Given the description of an element on the screen output the (x, y) to click on. 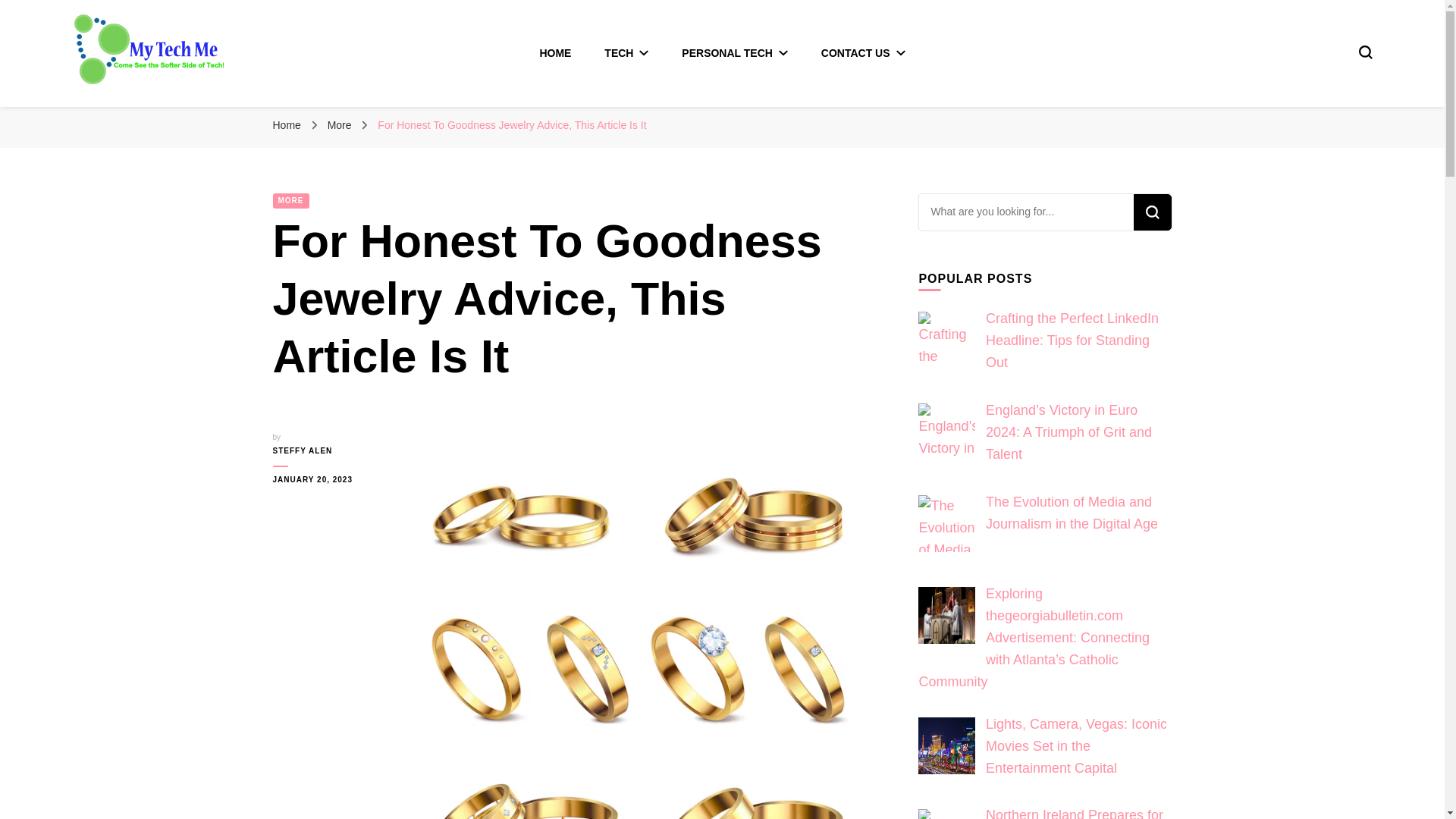
My Tech Me (143, 110)
The Evolution of Media and Journalism in the Digital Age (946, 523)
Search (1151, 212)
HOME (554, 52)
TECH (625, 52)
Search (1151, 212)
